Given the description of an element on the screen output the (x, y) to click on. 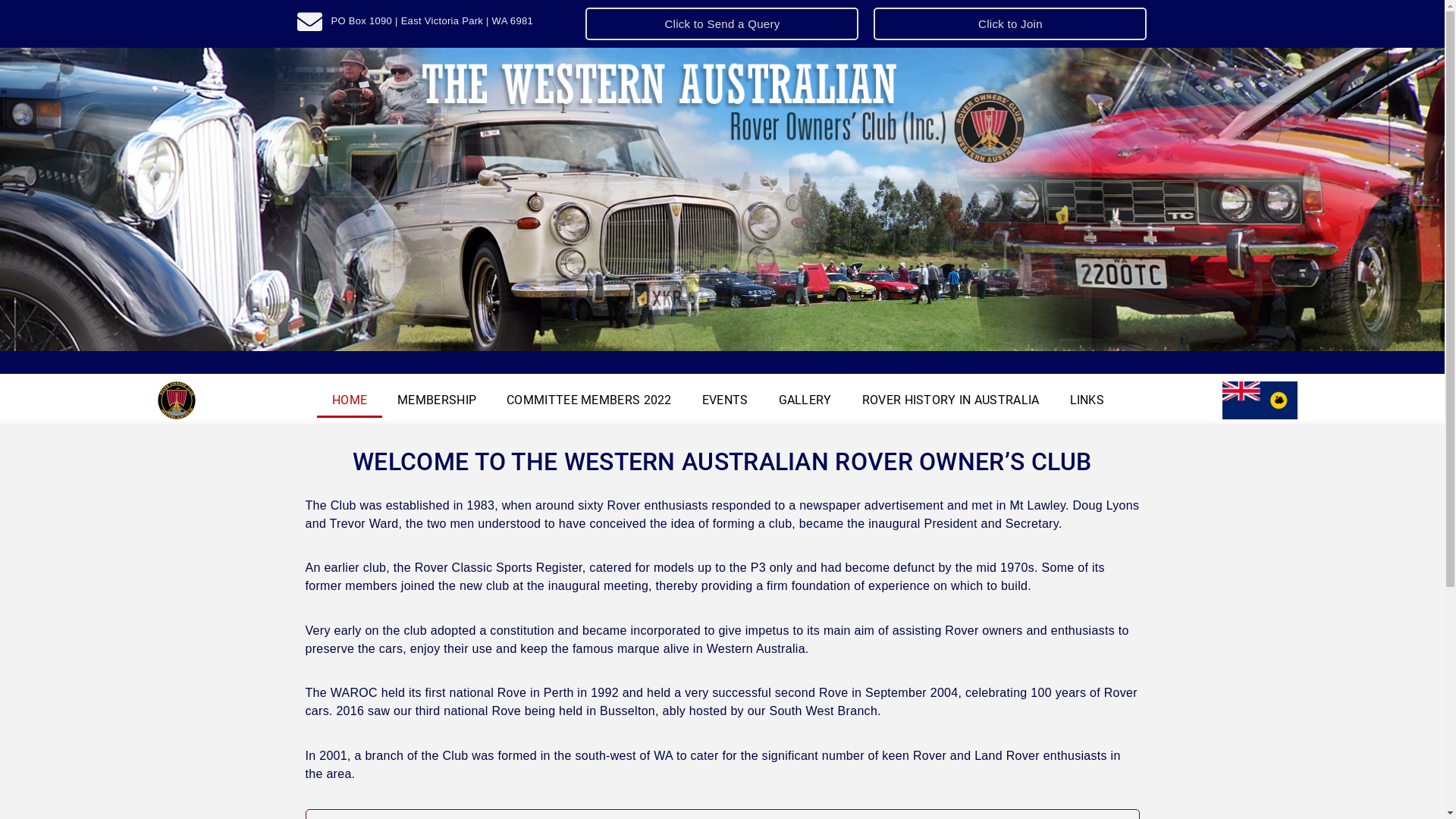
WAROC Logo 50 Element type: hover (176, 400)
ROVER HISTORY IN AUSTRALIA Element type: text (950, 399)
125px-Flag_of_Western_Australia.svg_ Element type: hover (1259, 400)
COMMITTEE MEMBERS 2022 Element type: text (589, 399)
GALLERY Element type: text (805, 399)
LINKS Element type: text (1087, 399)
Click to Send a Query Element type: text (721, 23)
Click to Join Element type: text (1009, 23)
MEMBERSHIP Element type: text (436, 399)
EVENTS Element type: text (725, 399)
HOME Element type: text (349, 399)
